Given the description of an element on the screen output the (x, y) to click on. 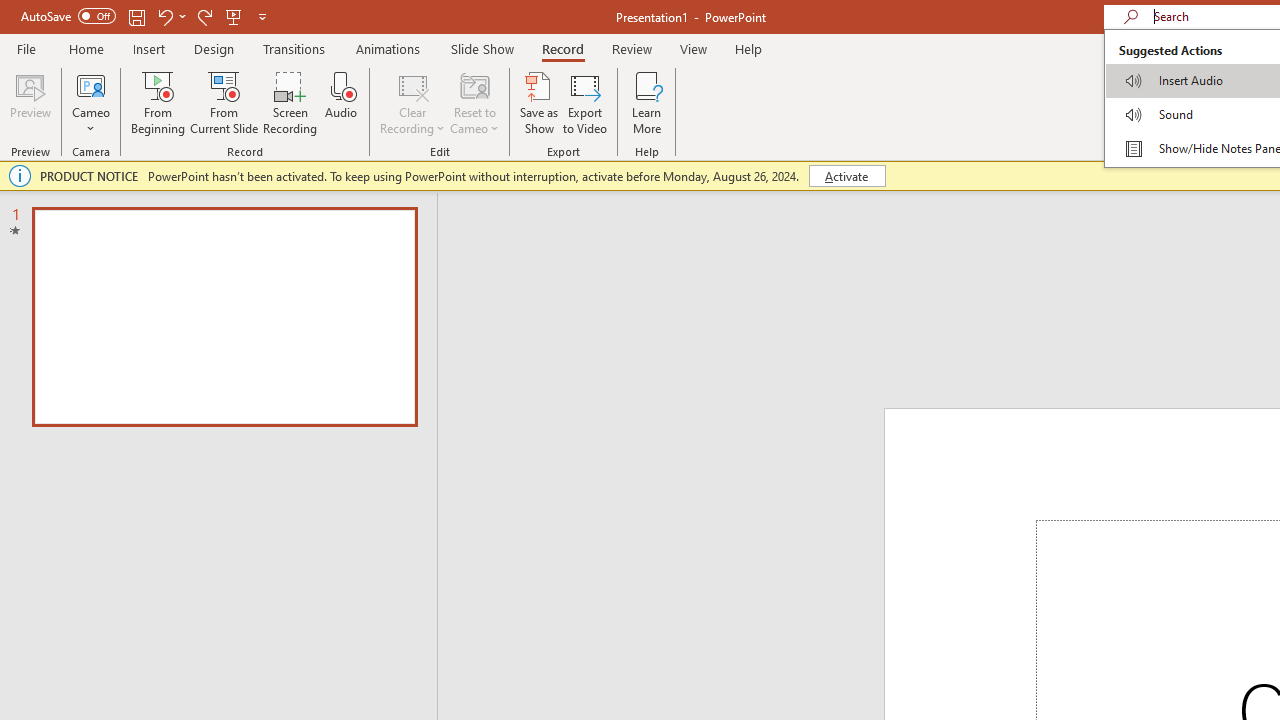
Activate (846, 175)
